Given the description of an element on the screen output the (x, y) to click on. 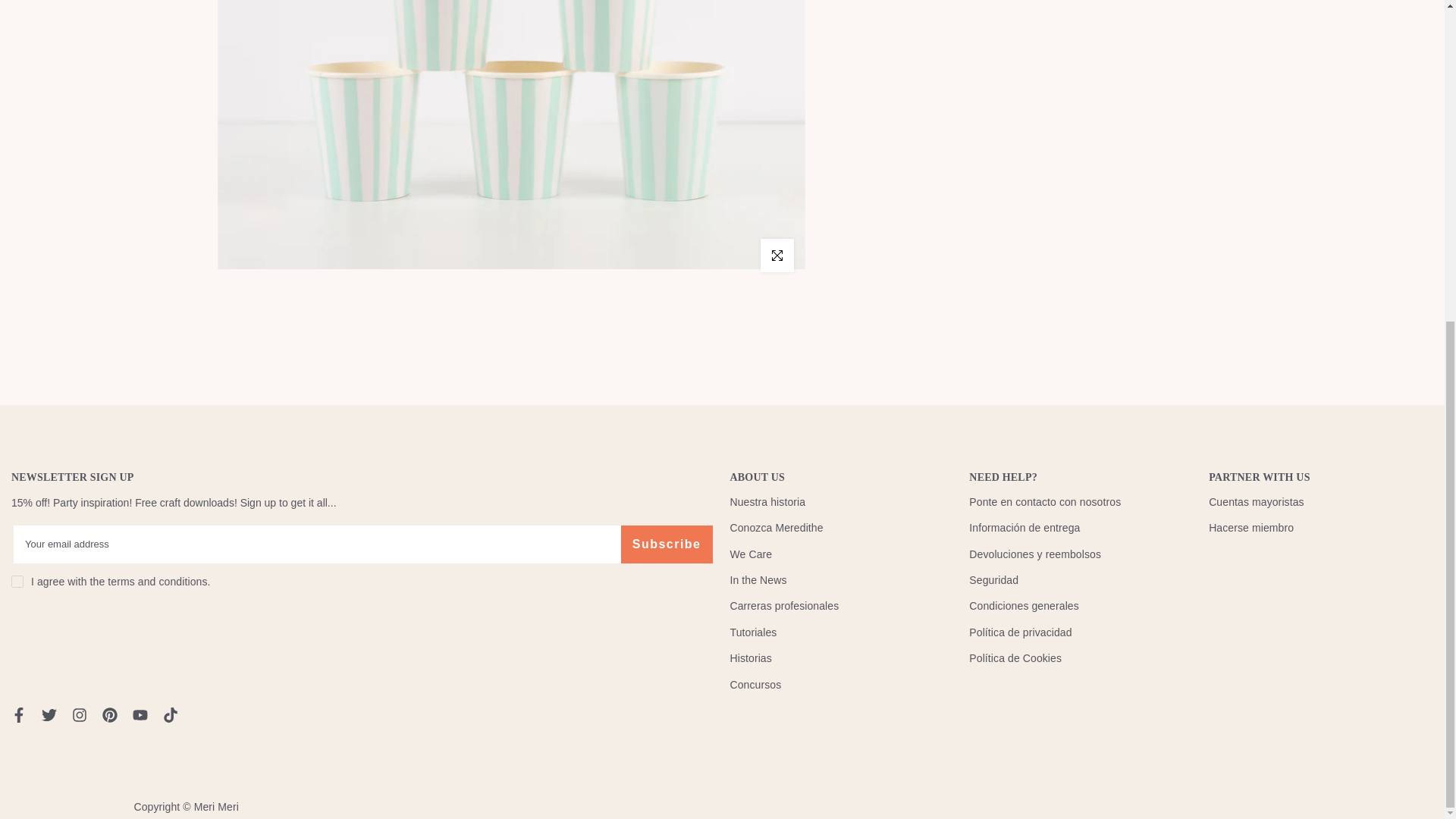
Tutoriales (752, 632)
Conozca Meredithe (775, 527)
We Care (750, 553)
Historias (750, 657)
Subscribe (667, 544)
Nuestra historia (767, 501)
Carreras profesionales (783, 605)
terms and conditions (156, 581)
In the News (757, 580)
